Given the description of an element on the screen output the (x, y) to click on. 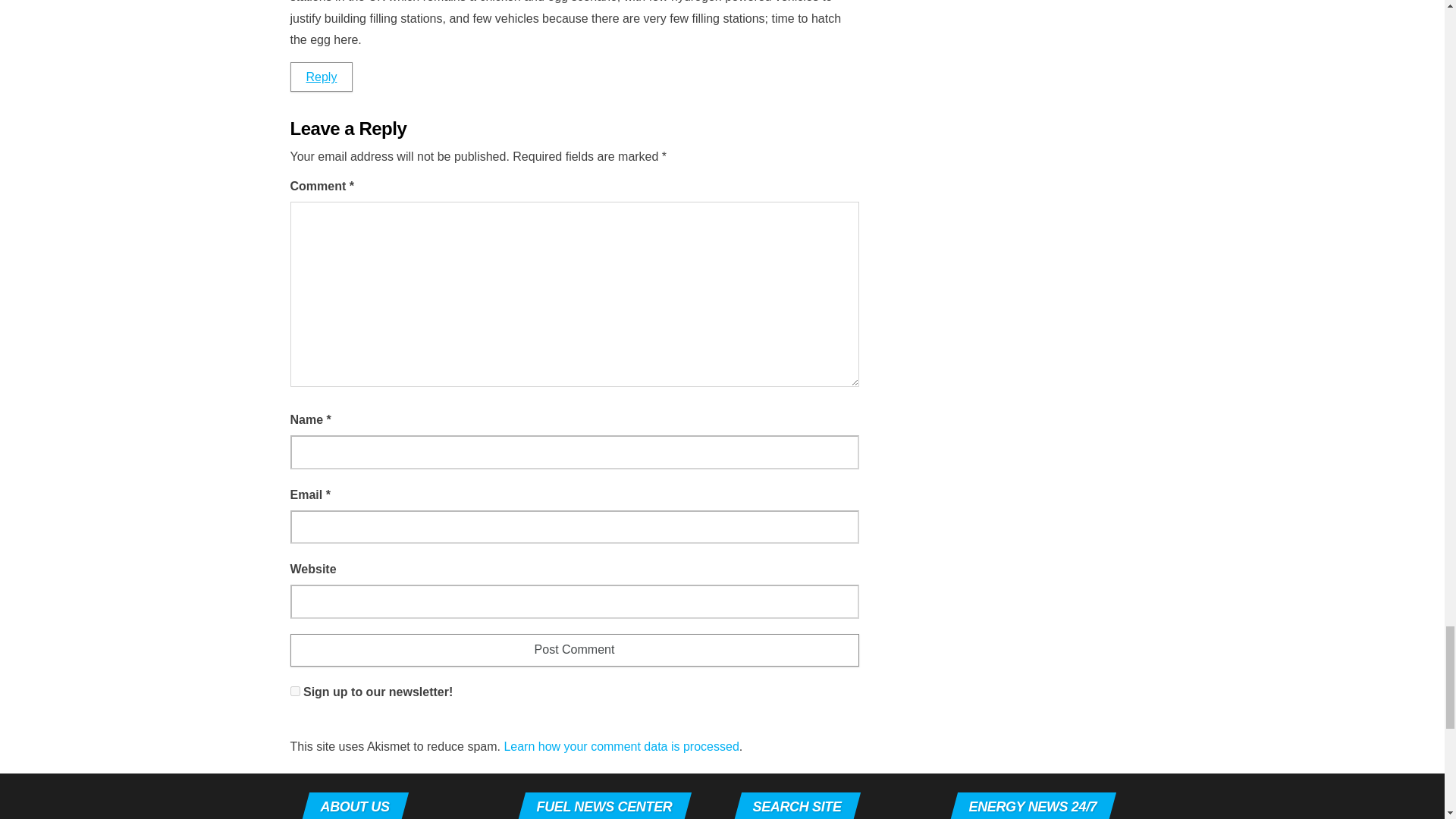
Post Comment (574, 649)
1 (294, 691)
